Given the description of an element on the screen output the (x, y) to click on. 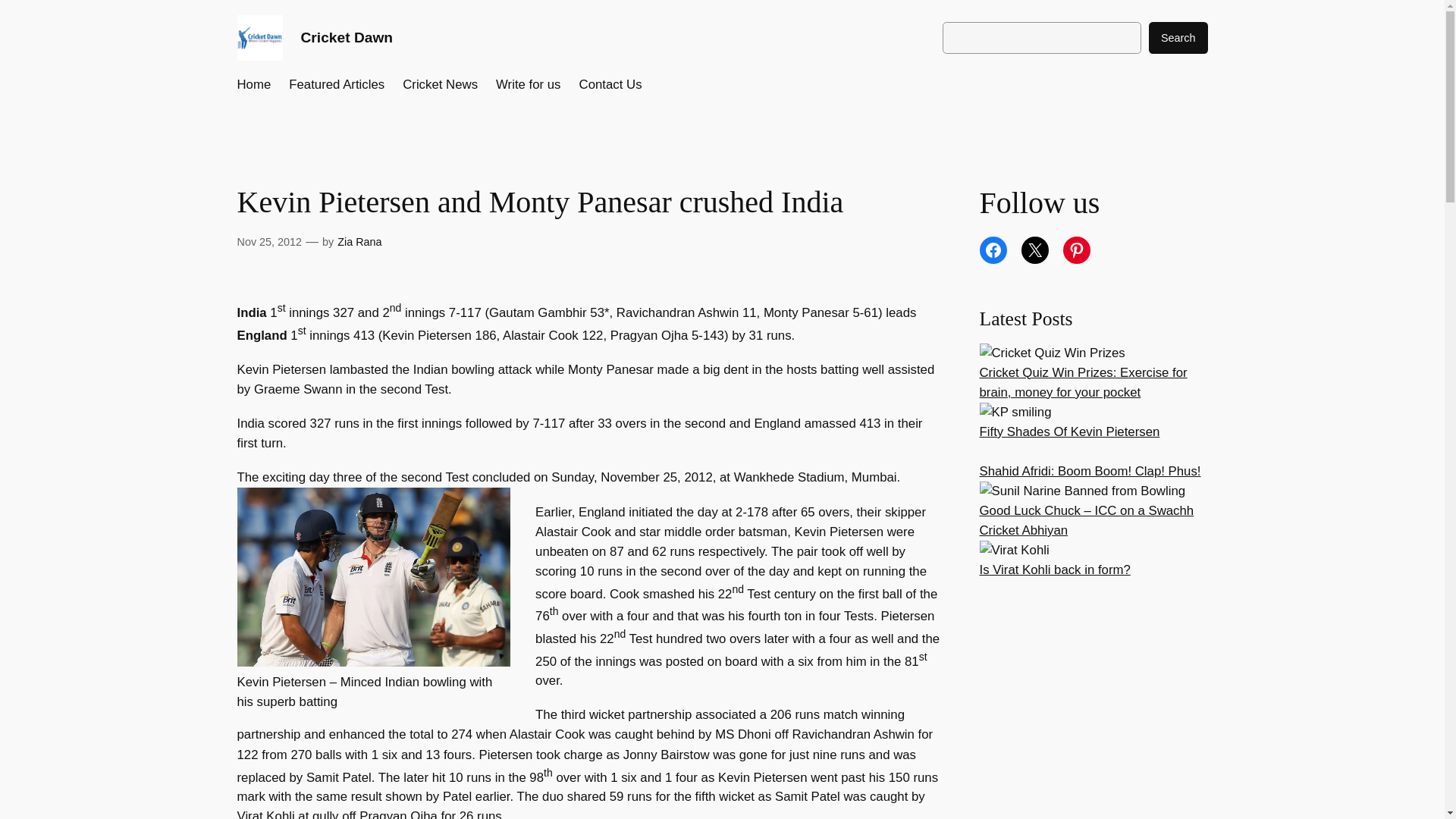
Write for us (528, 85)
Cricket News (440, 85)
Contact Us (610, 85)
Cricket Dawn (346, 37)
X (1035, 249)
Home (252, 85)
Is Virat Kohli back in form? (1055, 569)
Pinterest (1076, 249)
Search (1178, 38)
Fifty Shades Of Kevin Pietersen (1069, 431)
